Given the description of an element on the screen output the (x, y) to click on. 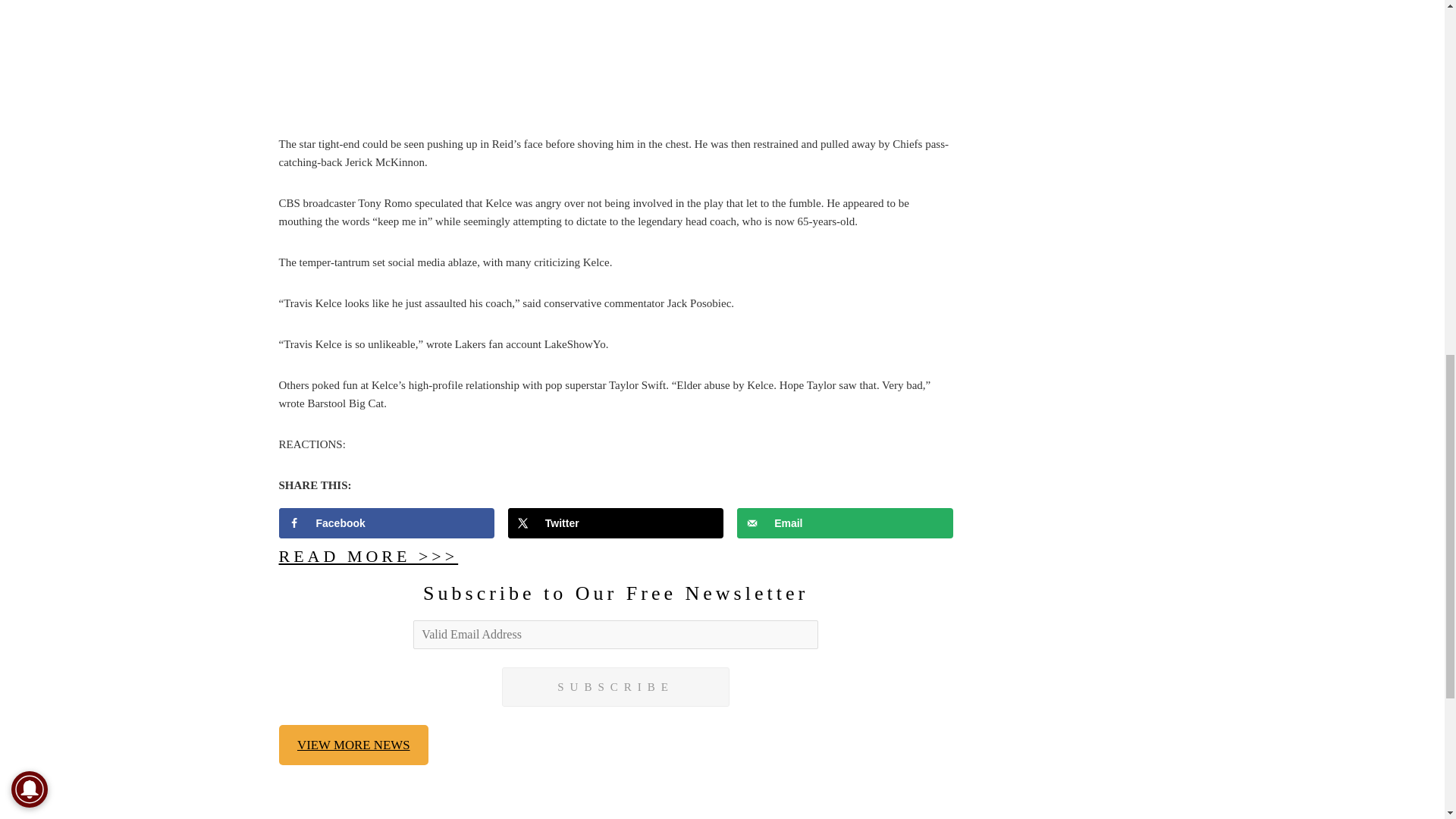
Email (844, 522)
Send over email (844, 522)
Twitter (615, 522)
SUBSCRIBE (615, 686)
Advertisement (616, 64)
Share on Facebook (387, 522)
Share on X (615, 522)
Facebook (387, 522)
VIEW MORE NEWS (354, 744)
